Given the description of an element on the screen output the (x, y) to click on. 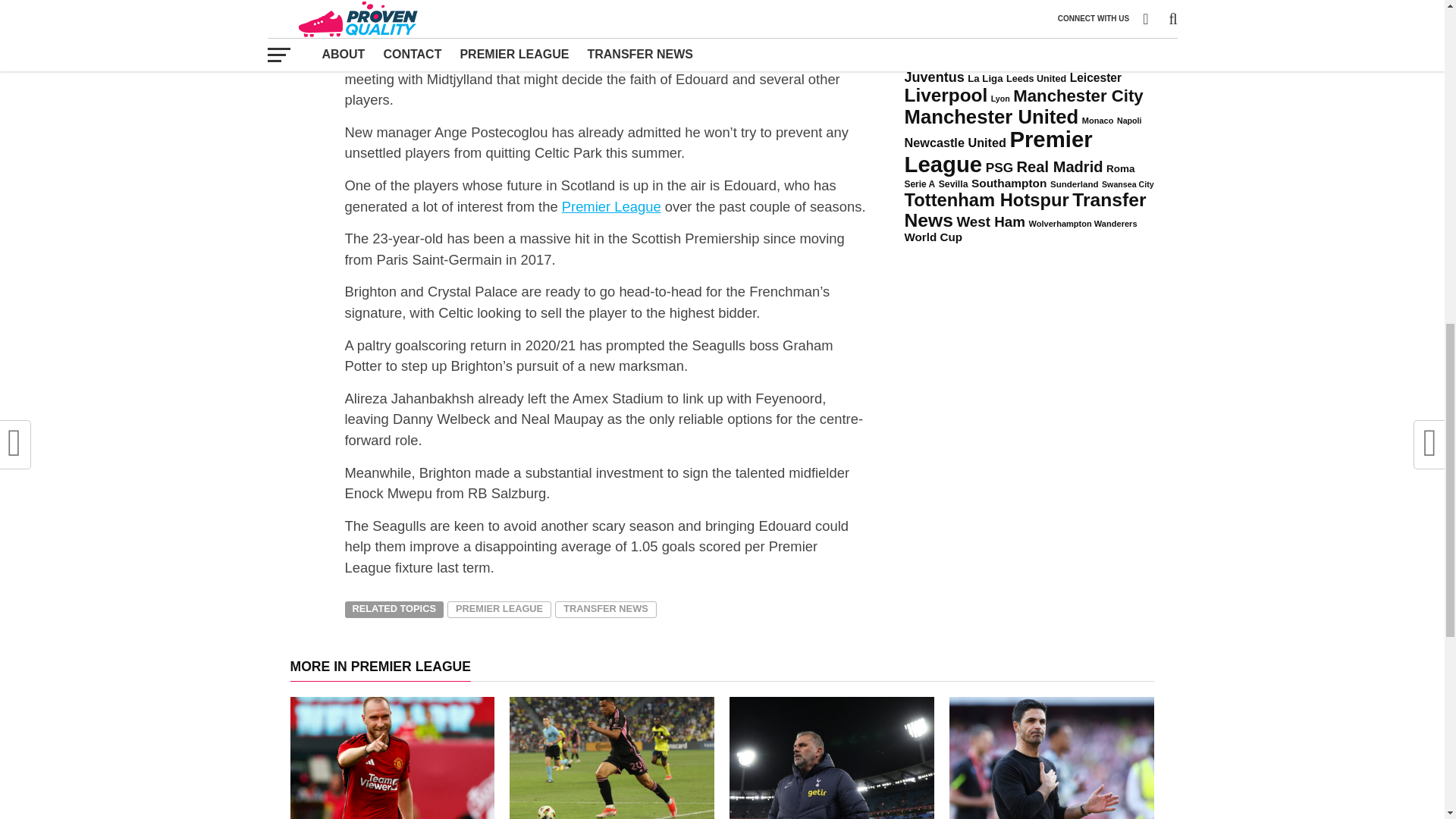
TRANSFER NEWS (605, 609)
PREMIER LEAGUE (498, 609)
Premier League (611, 206)
